Given the description of an element on the screen output the (x, y) to click on. 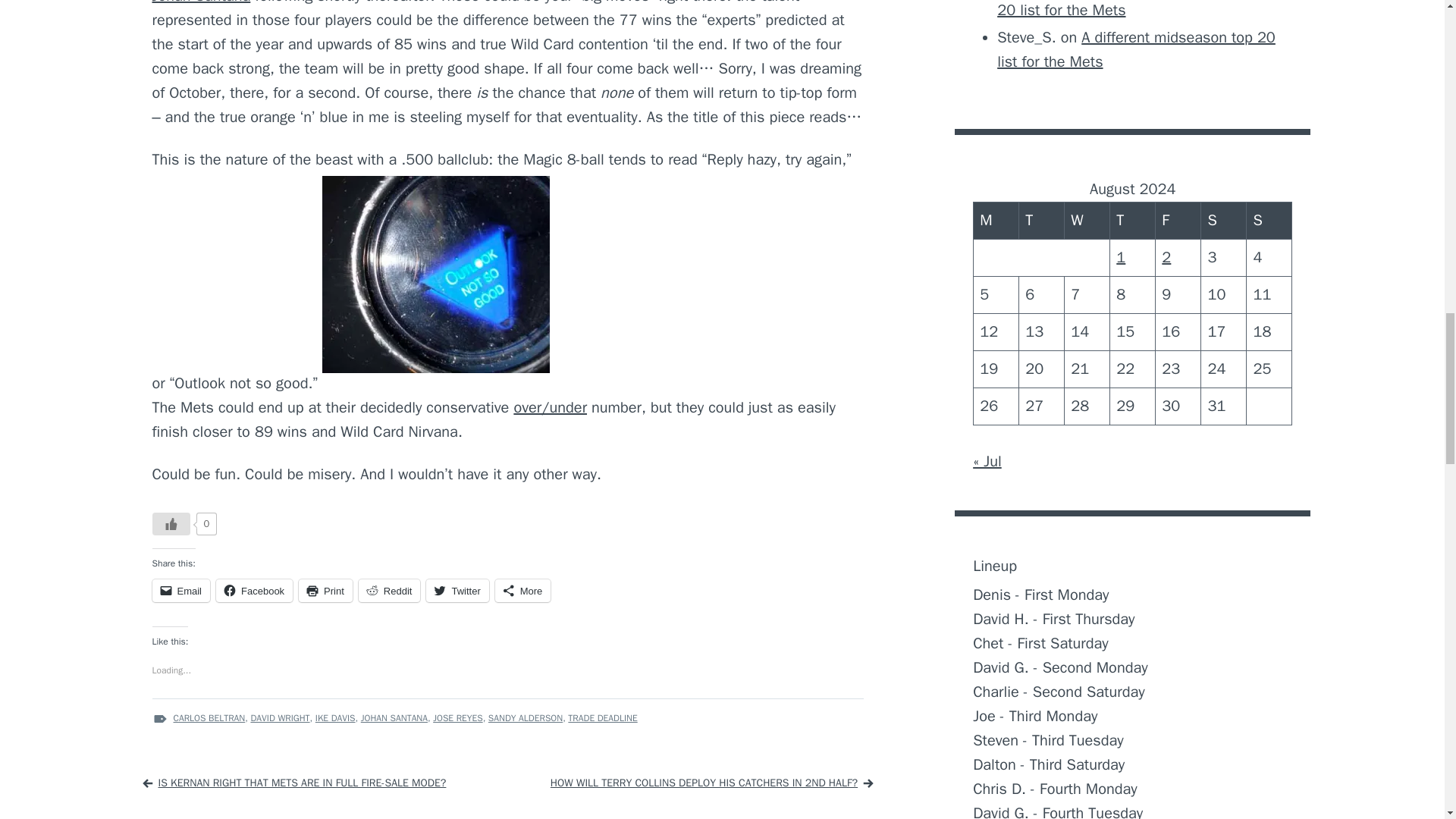
Click to email a link to a friend (180, 590)
CARLOS BELTRAN (208, 717)
Click to share on Facebook (253, 590)
Reddit (389, 590)
Facebook (253, 590)
Click to share on Twitter (456, 590)
More (523, 590)
Email (180, 590)
Print (325, 590)
Twitter (456, 590)
Click to share on Reddit (389, 590)
Click to print (325, 590)
DAVID WRIGHT (279, 717)
Johan Santana (200, 2)
